Given the description of an element on the screen output the (x, y) to click on. 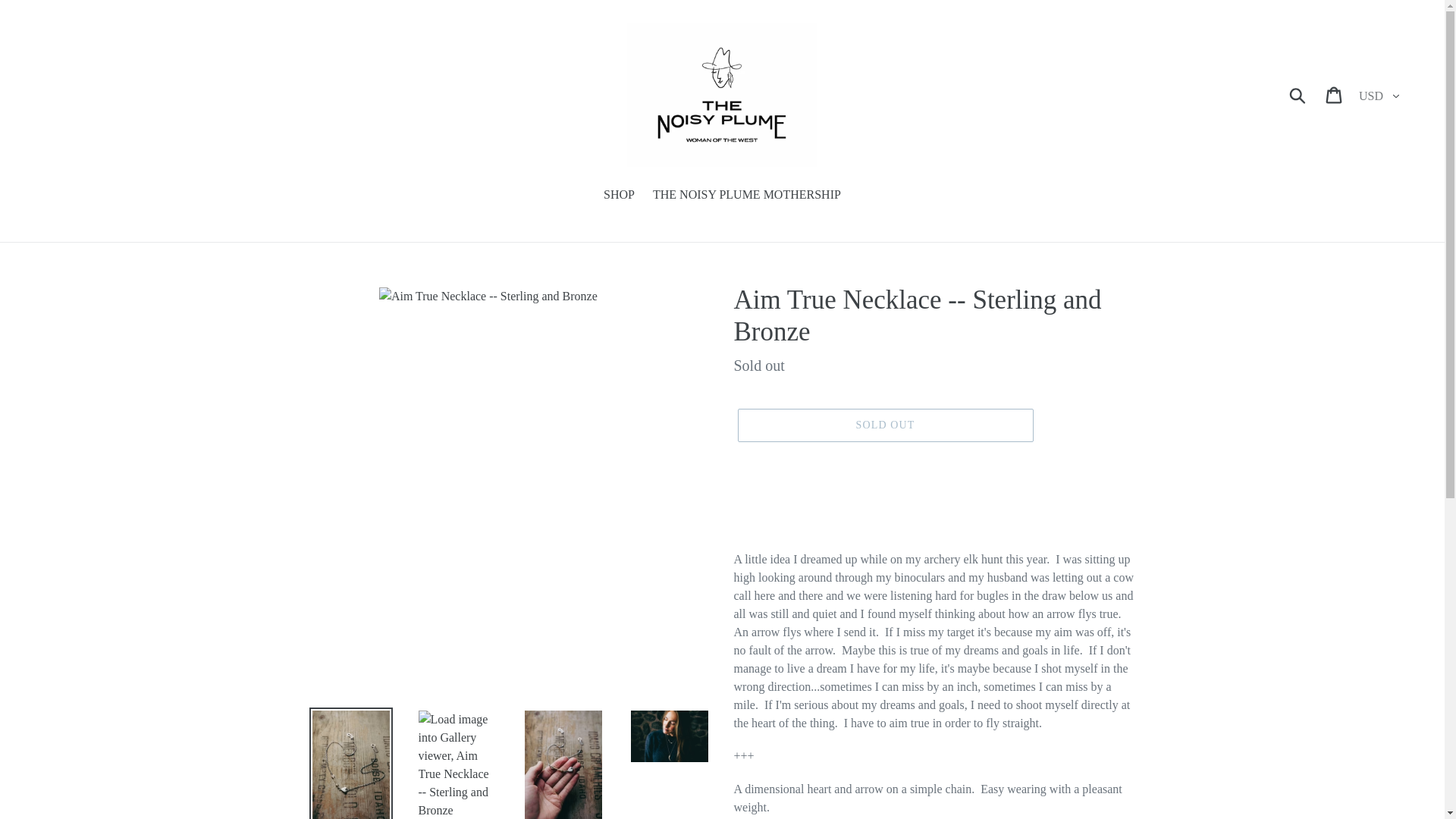
THE NOISY PLUME MOTHERSHIP (746, 195)
Cart (1334, 94)
SOLD OUT (884, 425)
Submit (1298, 94)
SHOP (618, 195)
